Given the description of an element on the screen output the (x, y) to click on. 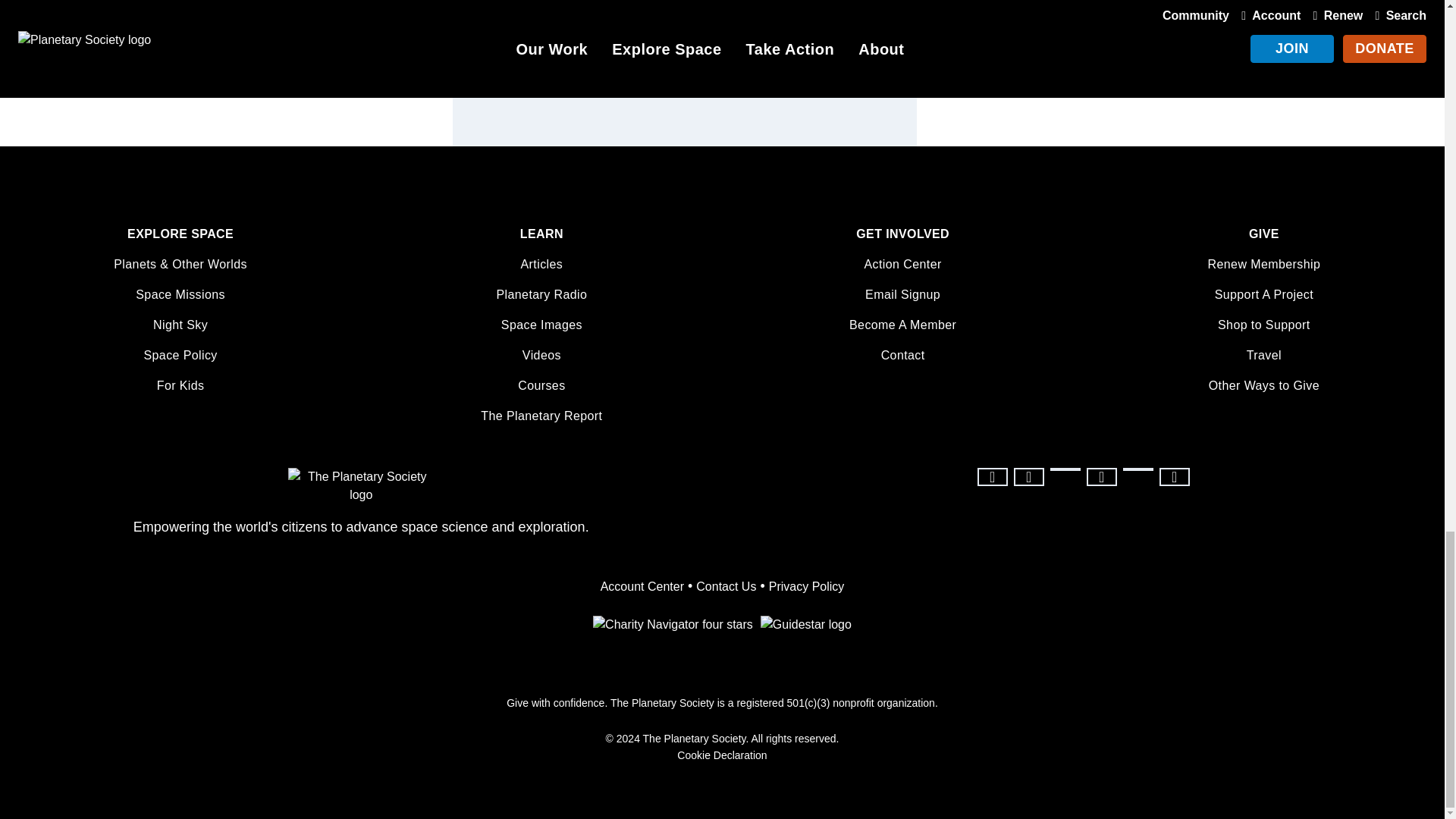
Subscribe (855, 40)
